Given the description of an element on the screen output the (x, y) to click on. 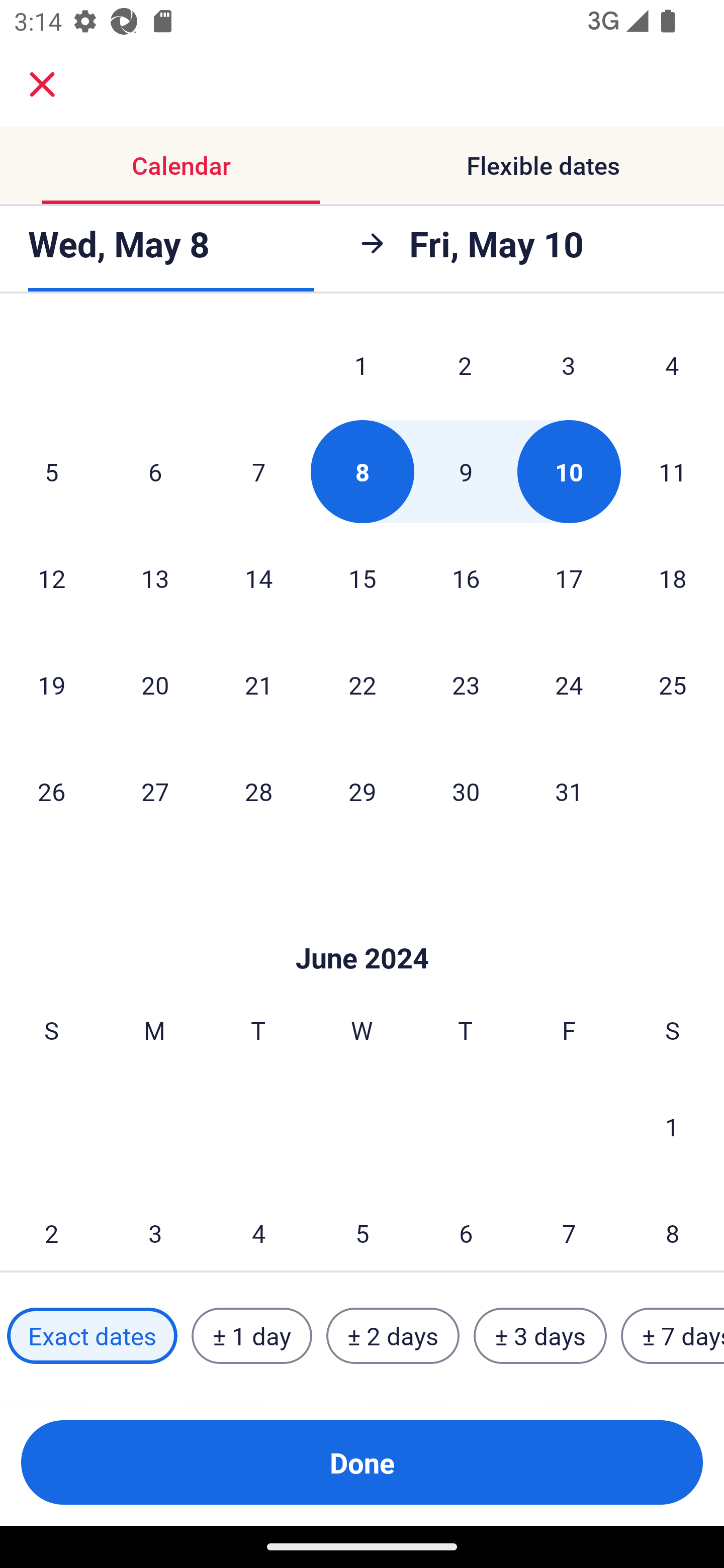
close. (42, 84)
Flexible dates (542, 164)
1 Wednesday, May 1, 2024 (361, 369)
2 Thursday, May 2, 2024 (464, 369)
3 Friday, May 3, 2024 (568, 369)
4 Saturday, May 4, 2024 (672, 369)
5 Sunday, May 5, 2024 (51, 471)
6 Monday, May 6, 2024 (155, 471)
7 Tuesday, May 7, 2024 (258, 471)
11 Saturday, May 11, 2024 (672, 471)
12 Sunday, May 12, 2024 (51, 578)
13 Monday, May 13, 2024 (155, 578)
14 Tuesday, May 14, 2024 (258, 578)
15 Wednesday, May 15, 2024 (362, 578)
16 Thursday, May 16, 2024 (465, 578)
17 Friday, May 17, 2024 (569, 578)
18 Saturday, May 18, 2024 (672, 578)
19 Sunday, May 19, 2024 (51, 684)
20 Monday, May 20, 2024 (155, 684)
21 Tuesday, May 21, 2024 (258, 684)
22 Wednesday, May 22, 2024 (362, 684)
23 Thursday, May 23, 2024 (465, 684)
24 Friday, May 24, 2024 (569, 684)
25 Saturday, May 25, 2024 (672, 684)
26 Sunday, May 26, 2024 (51, 791)
27 Monday, May 27, 2024 (155, 791)
28 Tuesday, May 28, 2024 (258, 791)
29 Wednesday, May 29, 2024 (362, 791)
30 Thursday, May 30, 2024 (465, 791)
31 Friday, May 31, 2024 (569, 791)
Skip to Done (362, 927)
1 Saturday, June 1, 2024 (672, 1126)
2 Sunday, June 2, 2024 (51, 1226)
3 Monday, June 3, 2024 (155, 1226)
4 Tuesday, June 4, 2024 (258, 1226)
5 Wednesday, June 5, 2024 (362, 1226)
6 Thursday, June 6, 2024 (465, 1226)
7 Friday, June 7, 2024 (569, 1226)
8 Saturday, June 8, 2024 (672, 1226)
Exact dates (92, 1335)
± 1 day (251, 1335)
± 2 days (392, 1335)
± 3 days (539, 1335)
± 7 days (672, 1335)
Done (361, 1462)
